Given the description of an element on the screen output the (x, y) to click on. 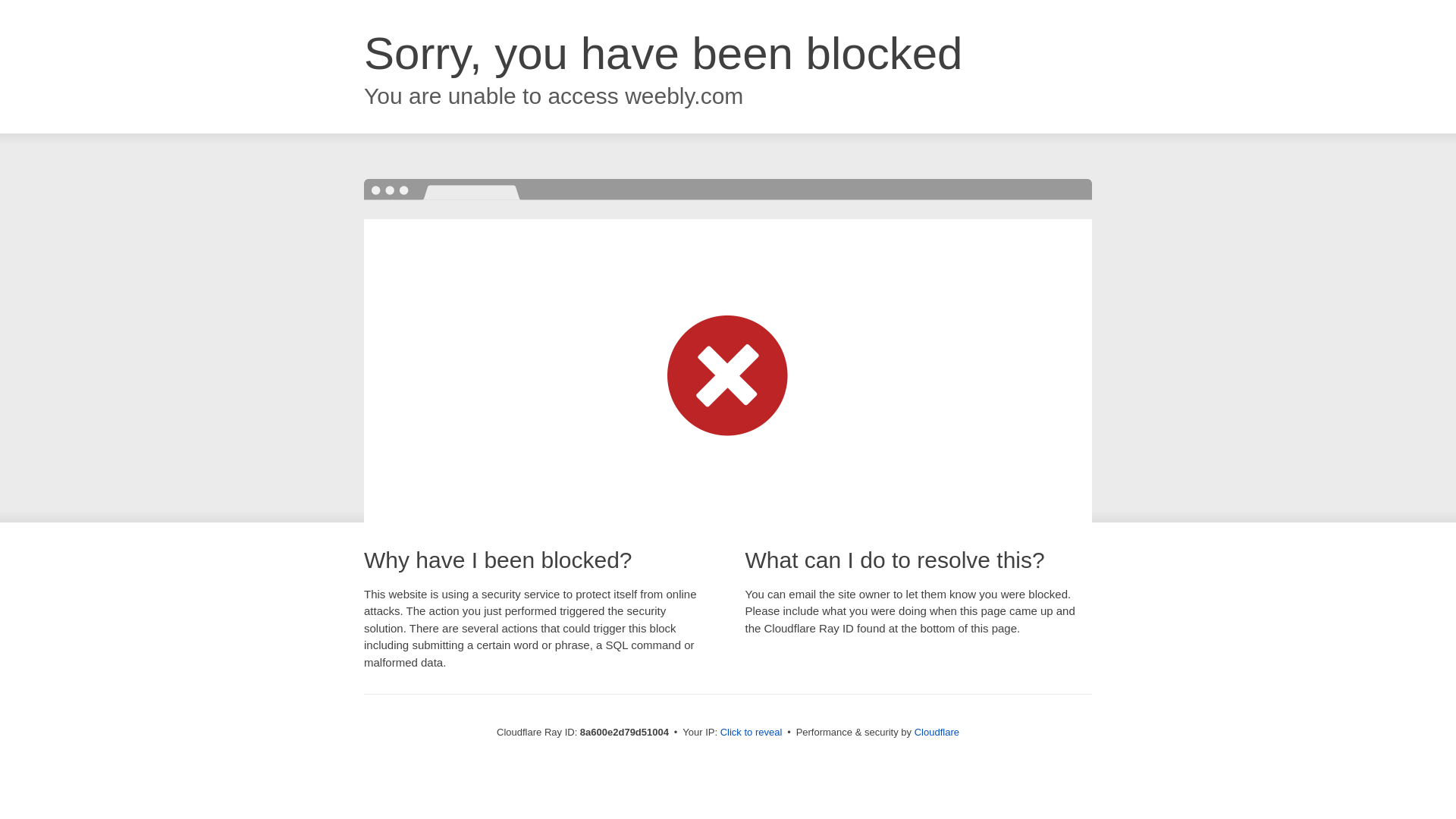
Cloudflare (936, 731)
Click to reveal (751, 732)
